Given the description of an element on the screen output the (x, y) to click on. 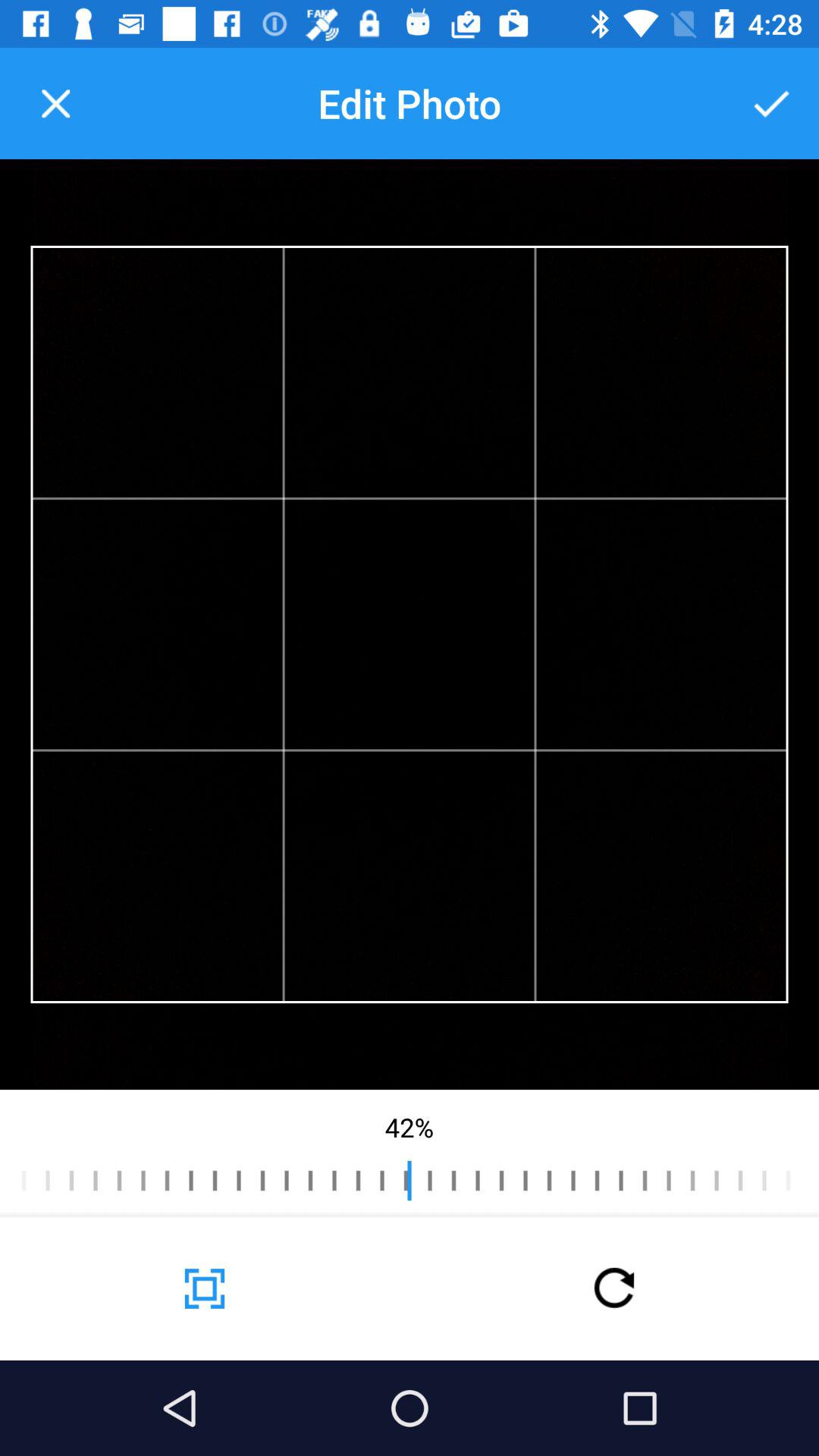
turn off the icon to the left of the edit photo icon (55, 103)
